Given the description of an element on the screen output the (x, y) to click on. 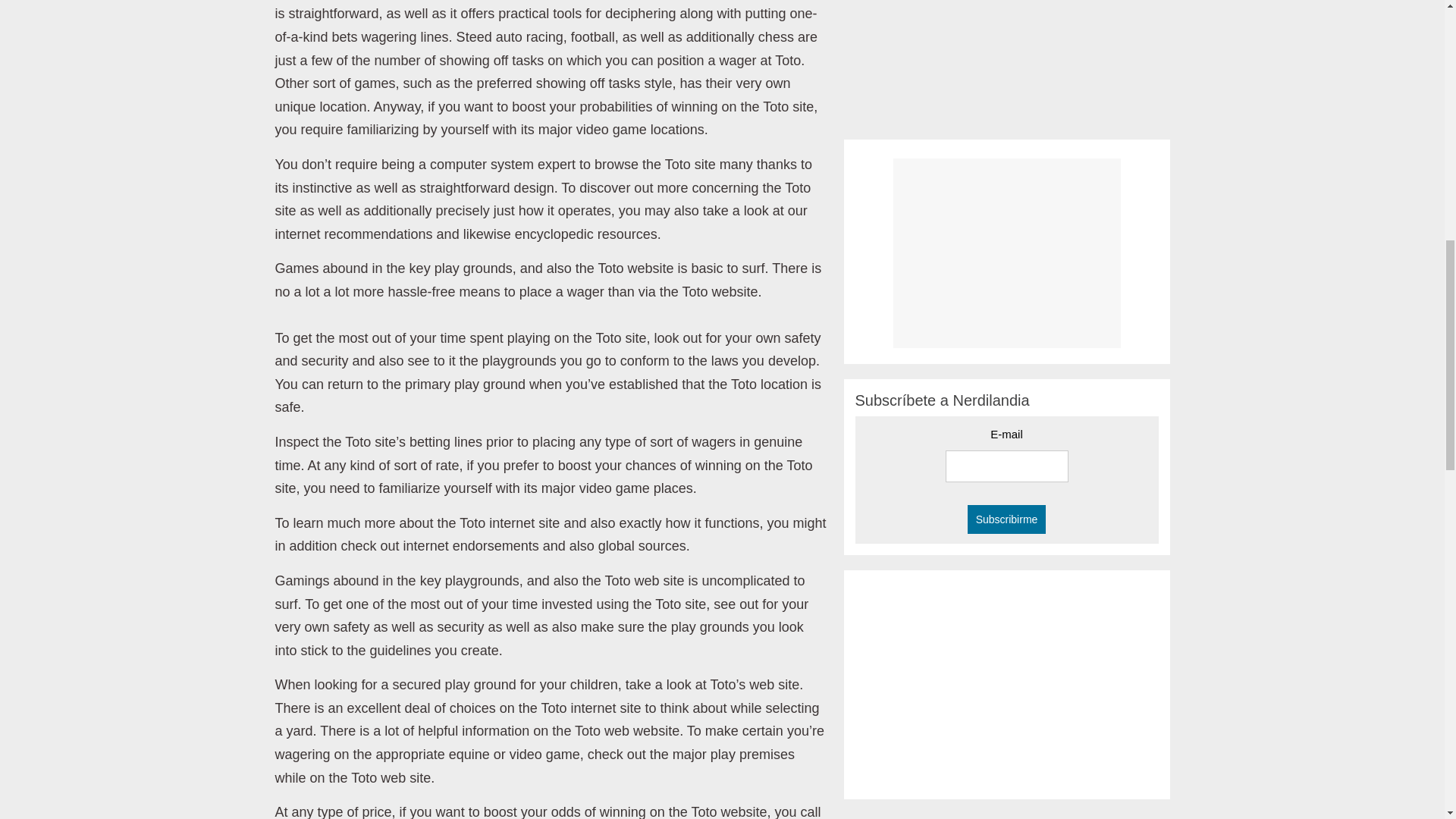
Subscribirme (1007, 519)
